Given the description of an element on the screen output the (x, y) to click on. 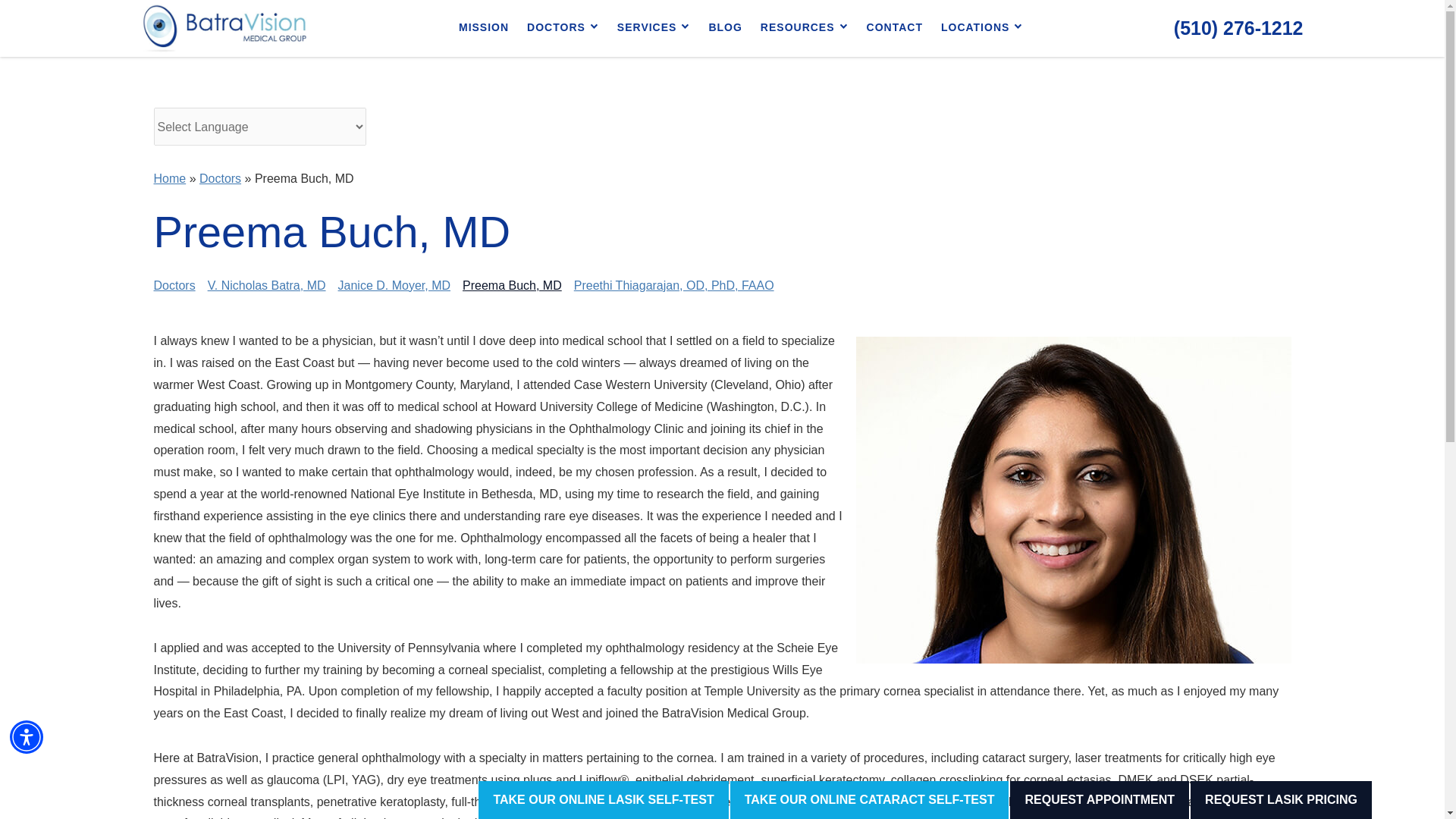
TAKE OUR ONLINE LASIK SELF-TEST (603, 800)
MISSION (483, 28)
SERVICES (654, 28)
CONTACT (894, 28)
Doctors (173, 285)
Home (169, 178)
BLOG (724, 28)
REQUEST APPOINTMENT (1099, 800)
RESOURCES (804, 28)
Preema Buch, MD (512, 285)
Doctors (563, 28)
REQUEST LASIK PRICING (1281, 800)
Janice D. Moyer, MD (393, 285)
Doctors (220, 178)
Batra Vision - Click For the Homepage (224, 28)
